Given the description of an element on the screen output the (x, y) to click on. 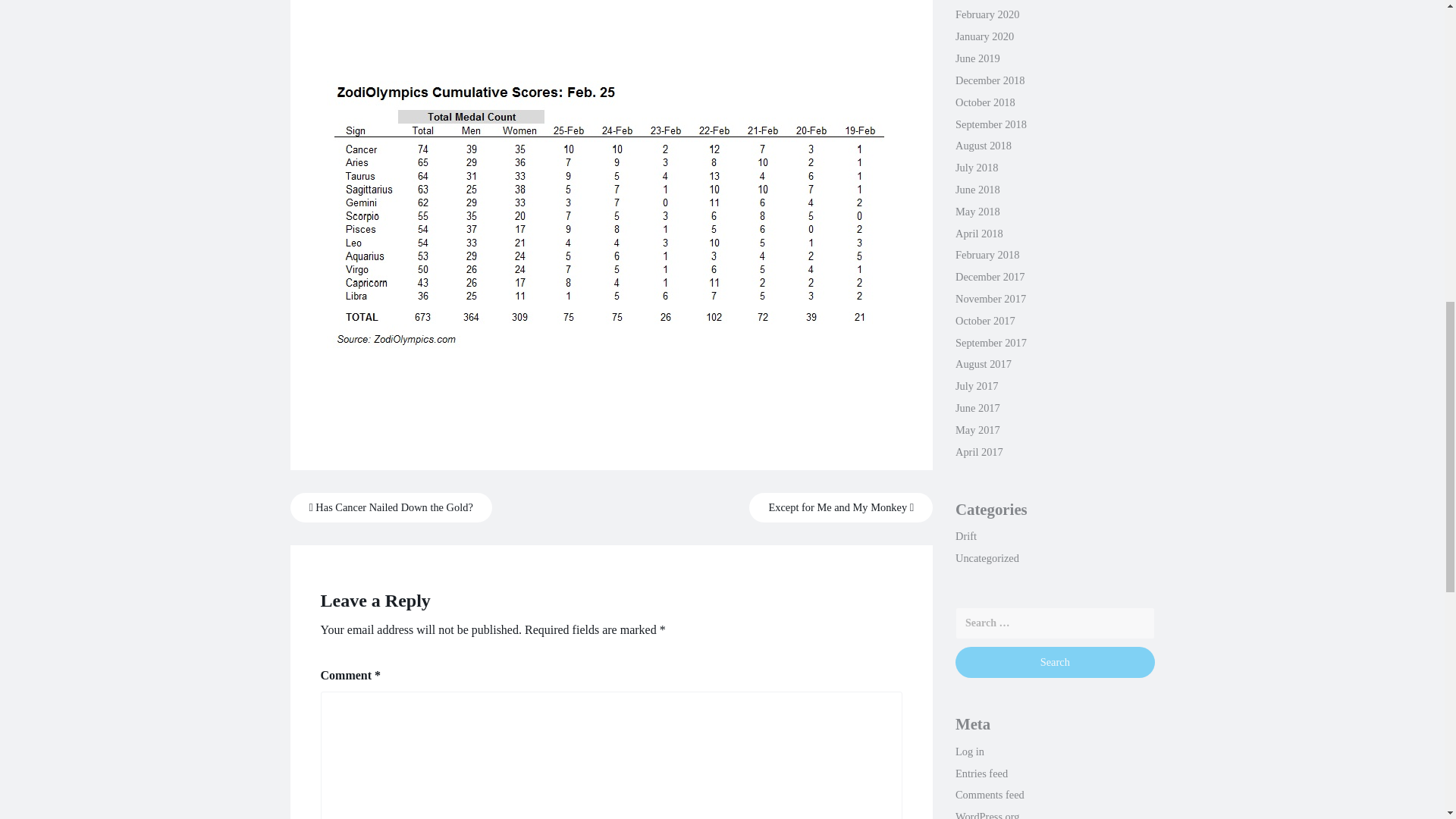
Search (1054, 662)
Except for Me and My Monkey (841, 507)
September 2018 (990, 123)
June 2019 (977, 58)
Has Cancer Nailed Down the Gold? (390, 507)
February 2020 (987, 14)
December 2018 (990, 80)
January 2020 (984, 36)
Search (1054, 662)
October 2018 (984, 102)
